Given the description of an element on the screen output the (x, y) to click on. 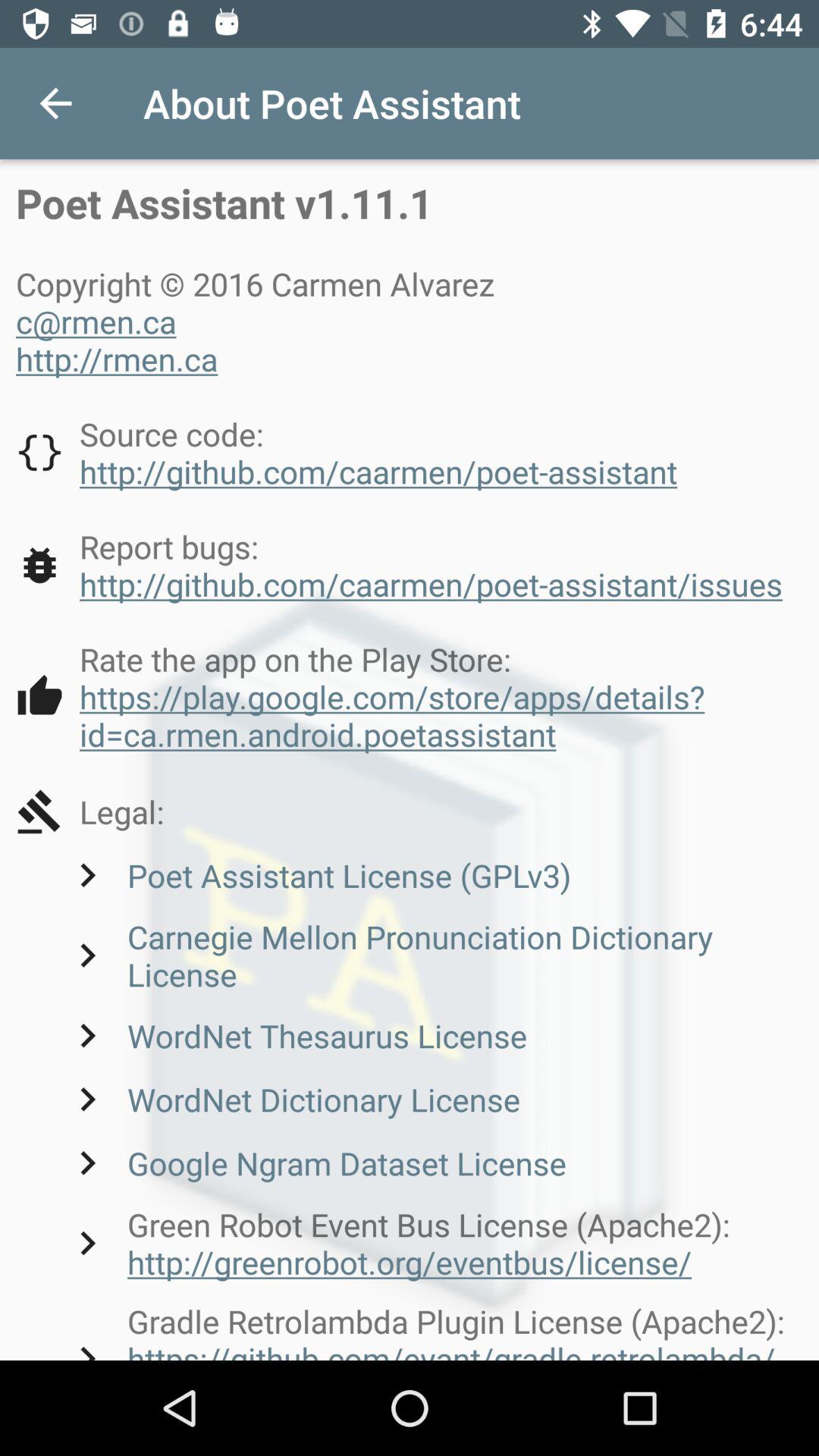
open the item below wordnet dictionary license icon (314, 1162)
